Given the description of an element on the screen output the (x, y) to click on. 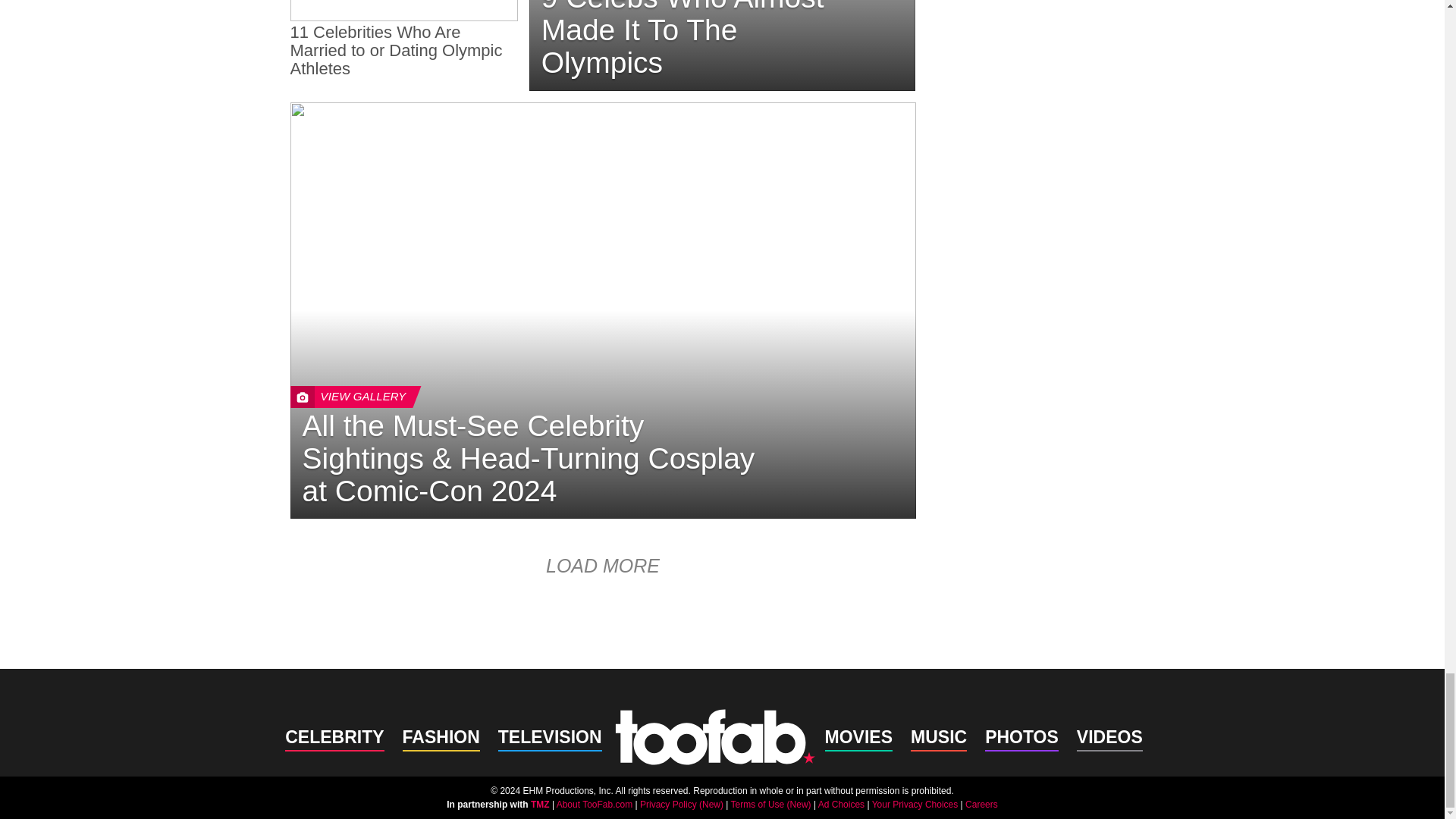
toofab (714, 736)
